Given the description of an element on the screen output the (x, y) to click on. 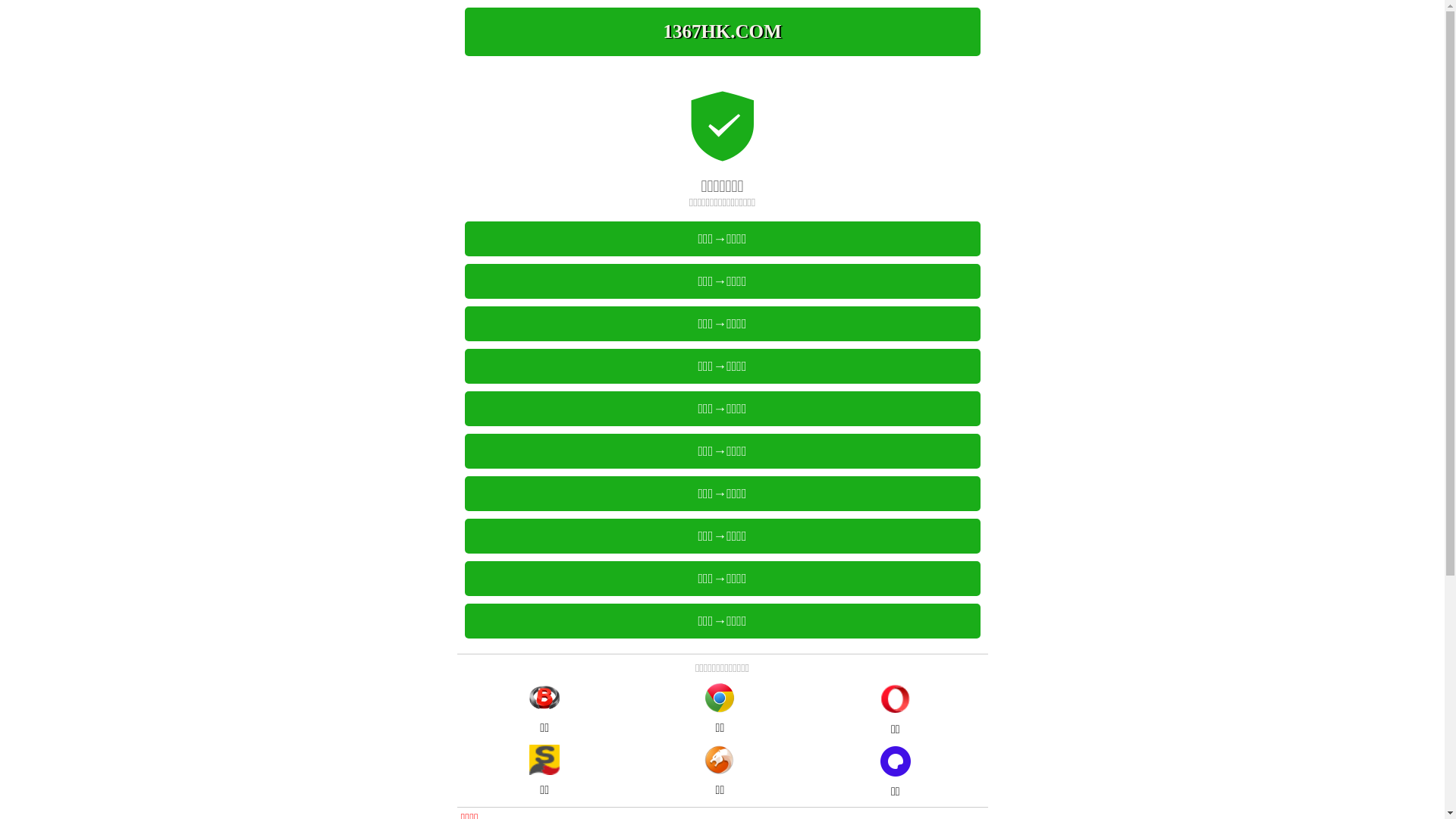
1365HK.COM Element type: text (721, 31)
